Given the description of an element on the screen output the (x, y) to click on. 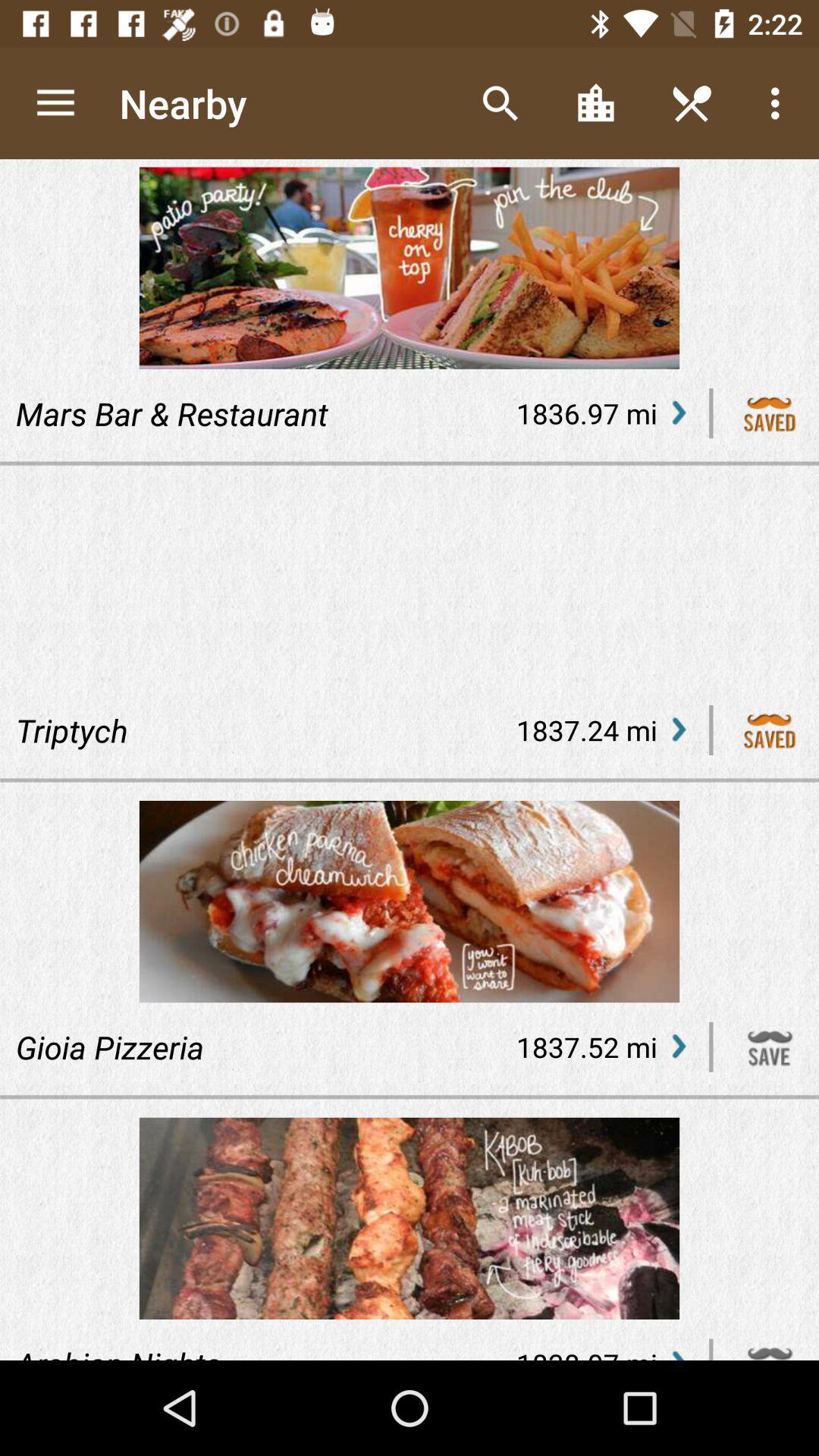
tap icon to the right of nearby item (500, 103)
